Given the description of an element on the screen output the (x, y) to click on. 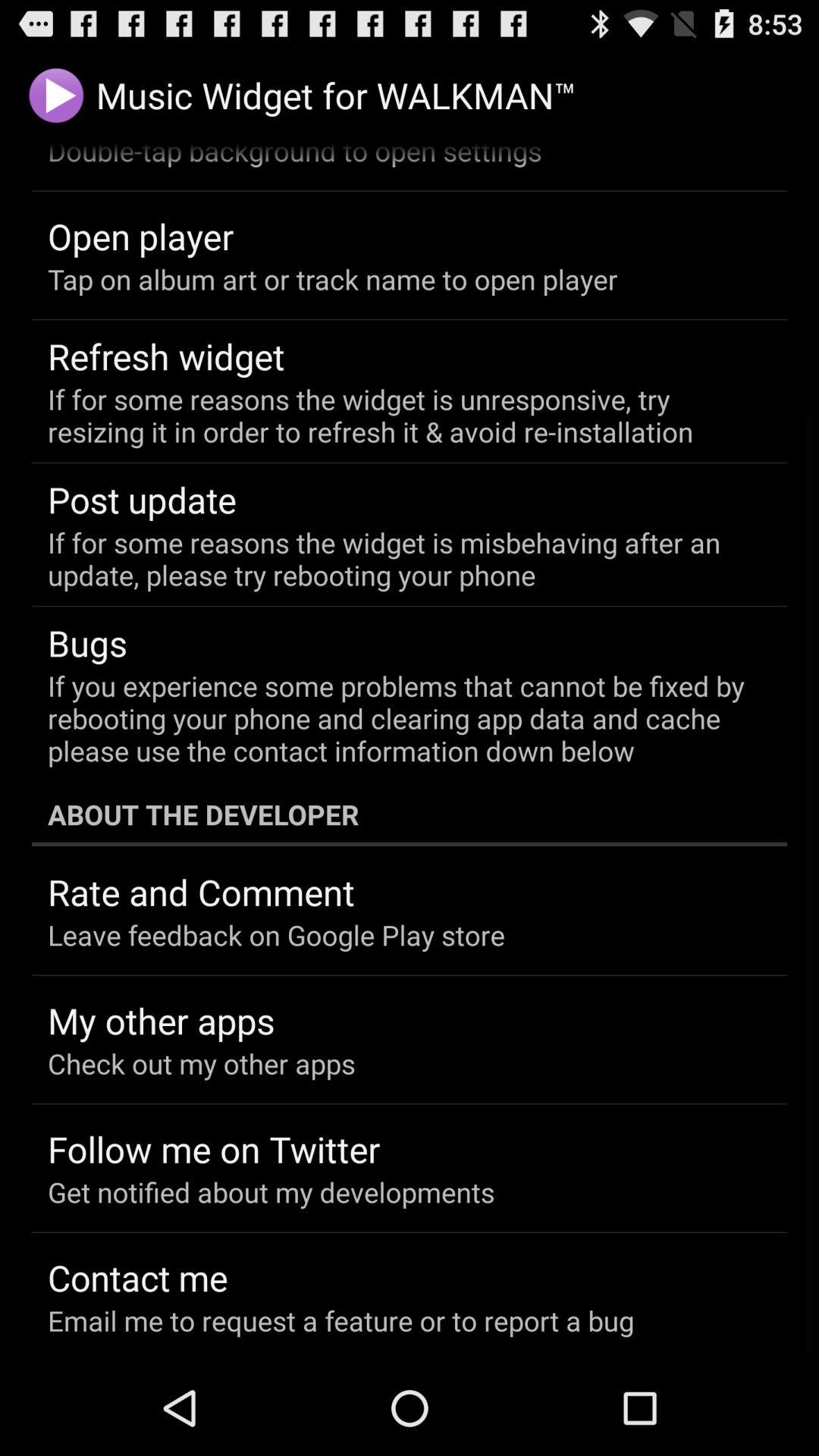
launch item at the bottom (340, 1320)
